Given the description of an element on the screen output the (x, y) to click on. 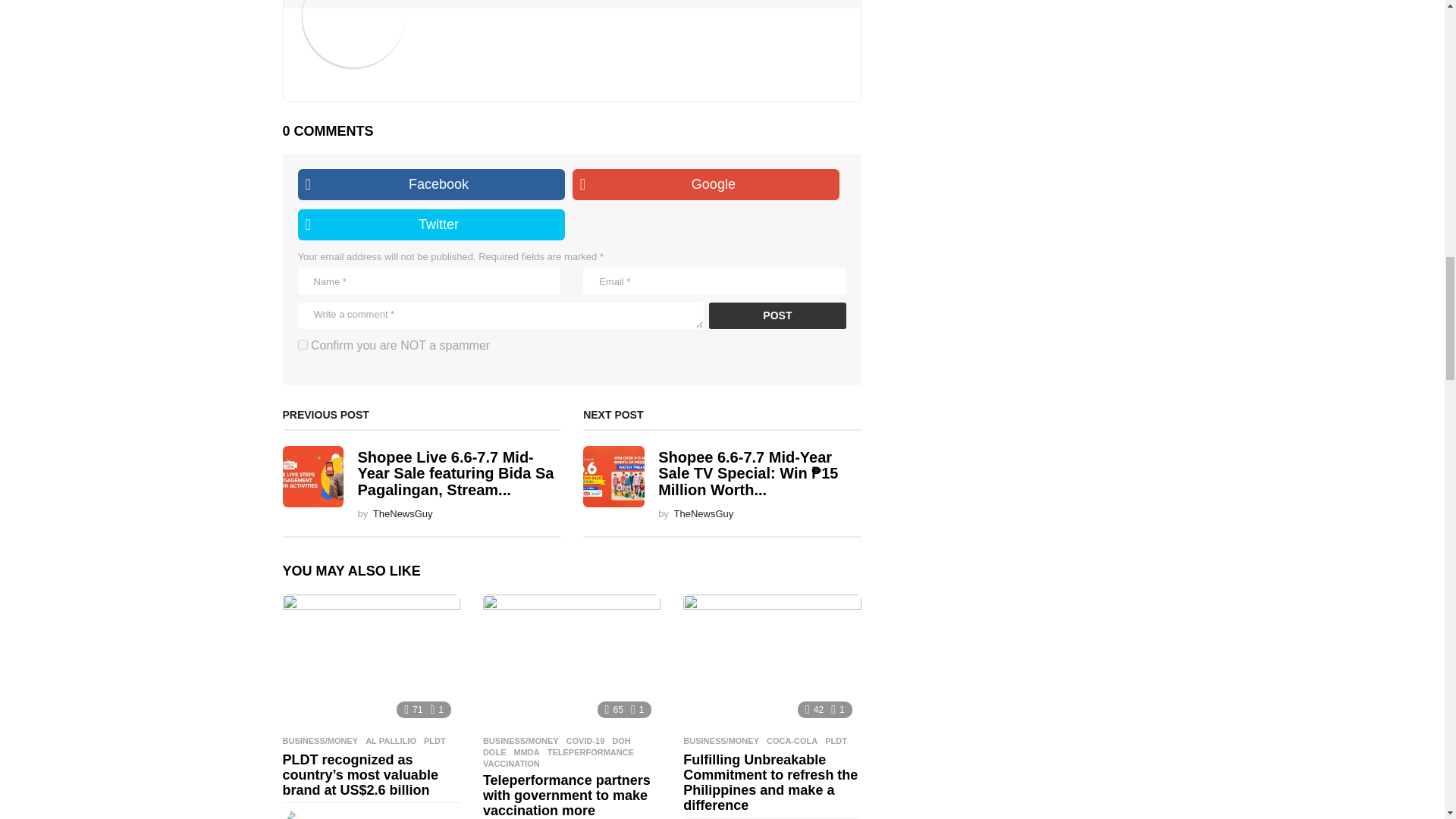
Twitter (431, 224)
Post (777, 315)
on (302, 344)
Post (777, 315)
Google (706, 183)
Facebook (431, 183)
